Given the description of an element on the screen output the (x, y) to click on. 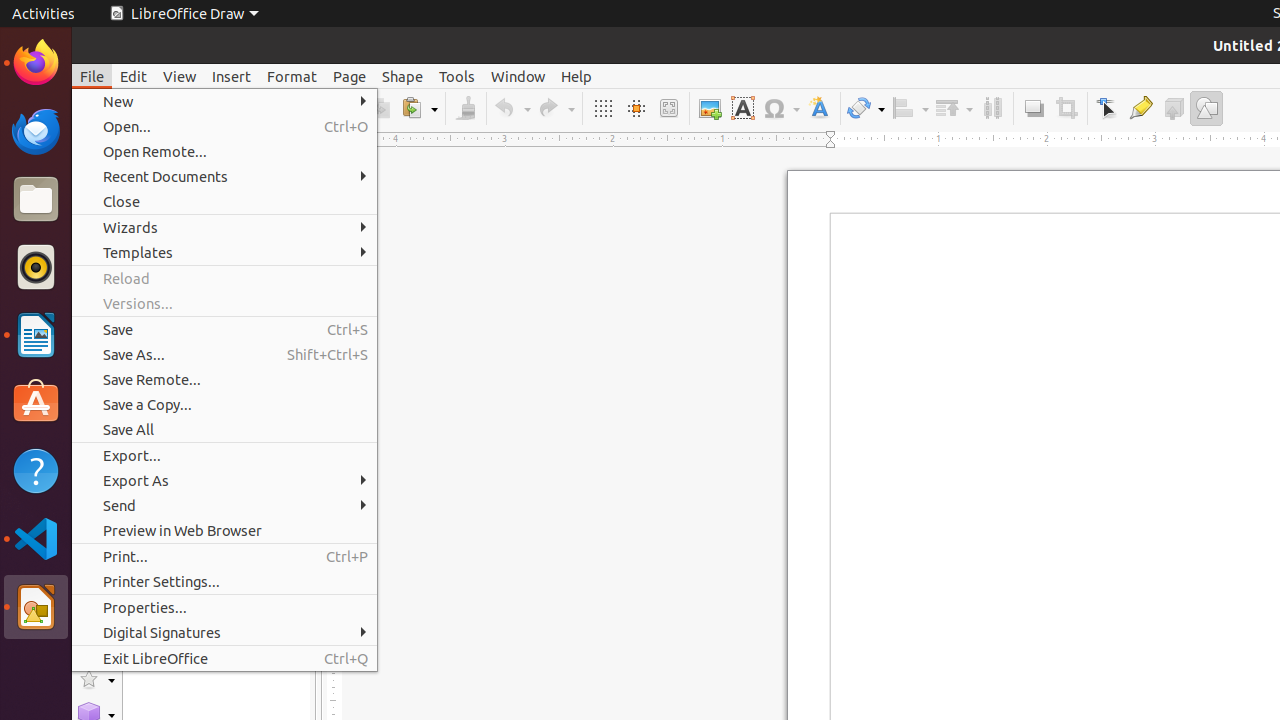
Transformations Element type: push-button (866, 108)
Page Element type: menu (349, 76)
Grid Element type: toggle-button (602, 108)
Format Element type: menu (292, 76)
Properties... Element type: menu-item (224, 607)
